Given the description of an element on the screen output the (x, y) to click on. 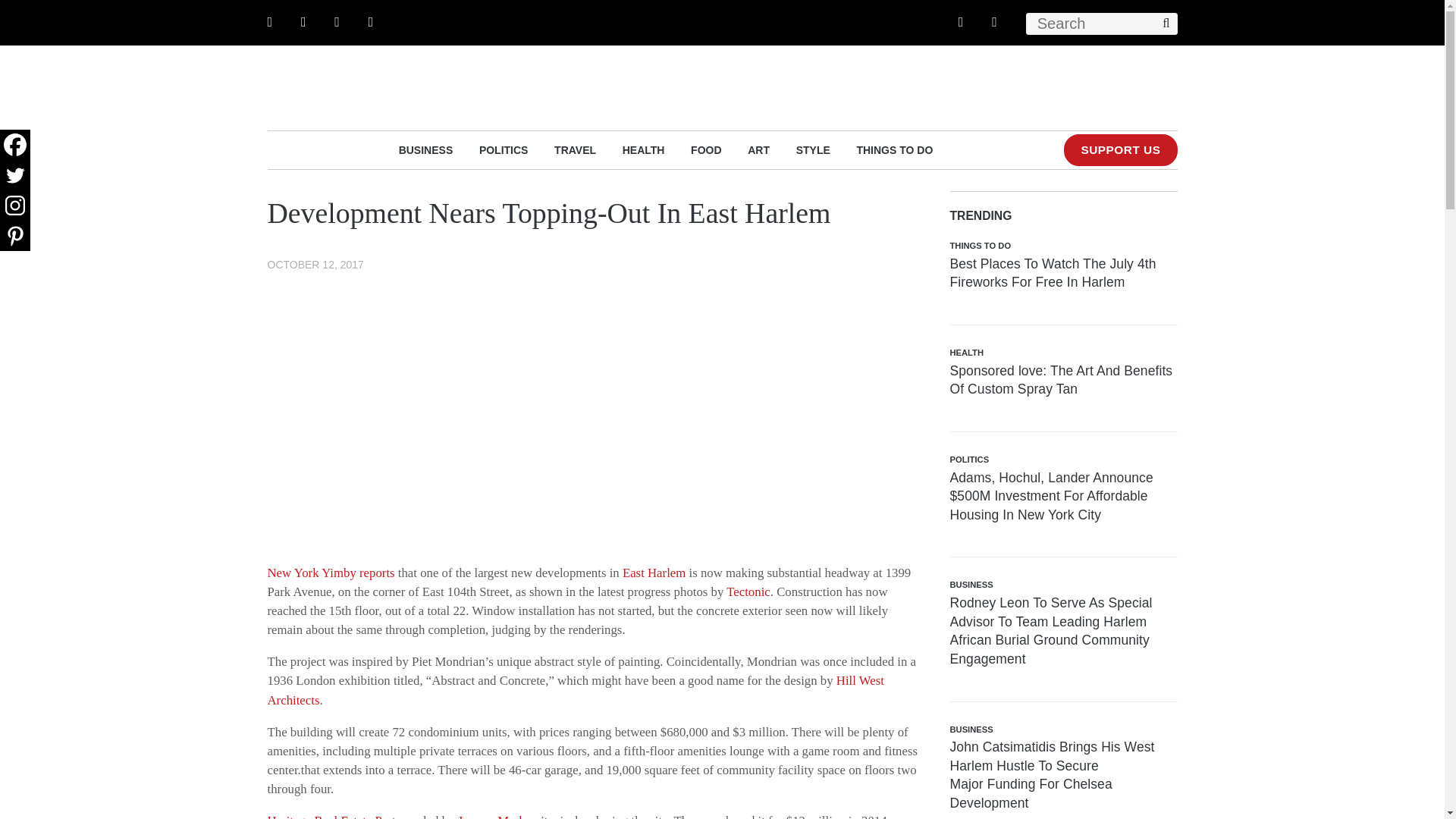
STYLE (812, 149)
Heritage Real Estate Partners (341, 816)
Tectonic (748, 591)
HEALTH (644, 149)
POLITICS (503, 149)
Hill West Architects (574, 689)
Facebook (15, 144)
Twitter (15, 174)
THINGS TO DO (894, 149)
TRAVEL (574, 149)
Jeremy Markowitz (505, 816)
Pinterest (15, 235)
BUSINESS (425, 149)
SUPPORT US (1120, 150)
Instagram (15, 205)
